Given the description of an element on the screen output the (x, y) to click on. 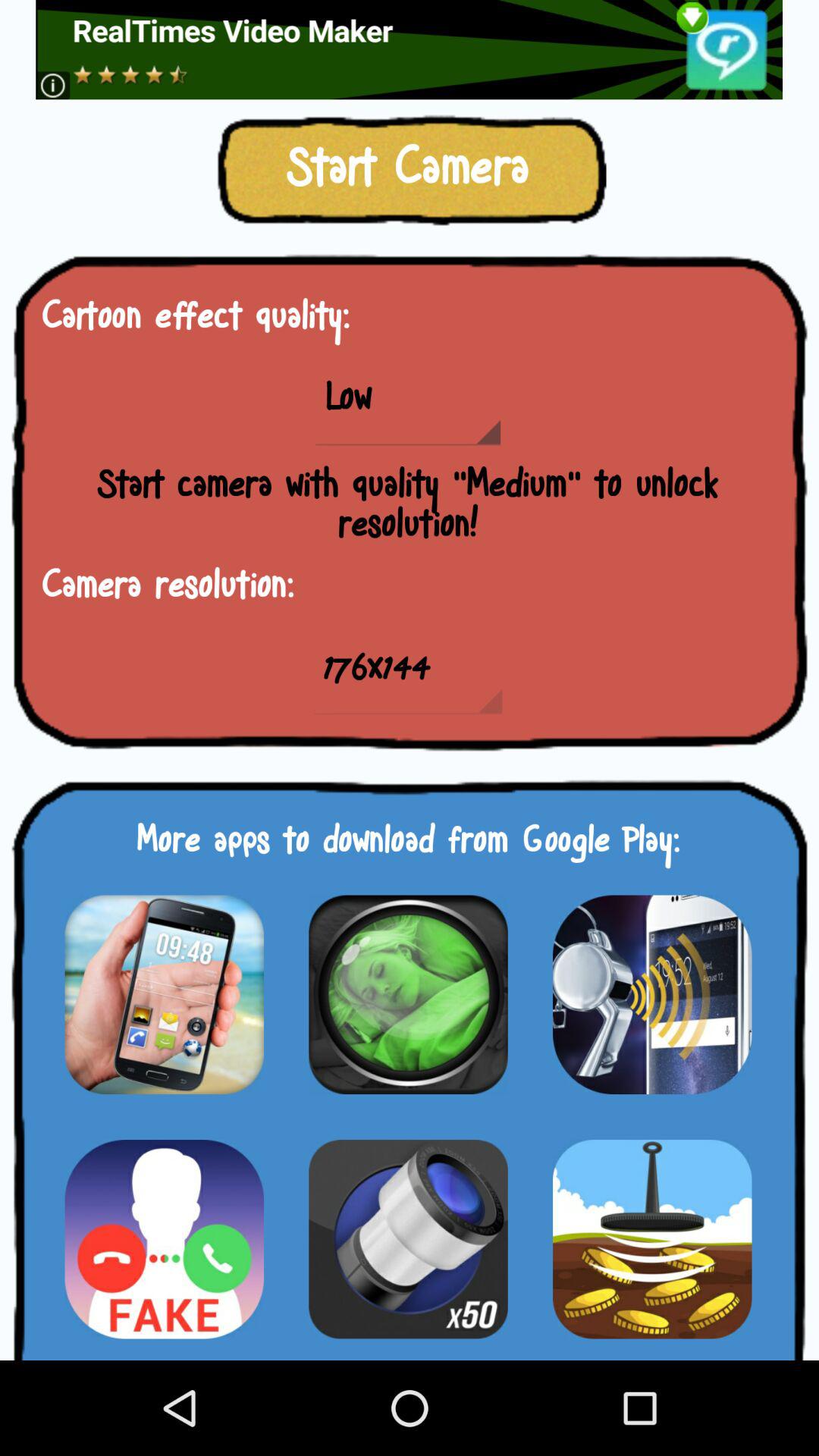
click fake icon (164, 1239)
